Given the description of an element on the screen output the (x, y) to click on. 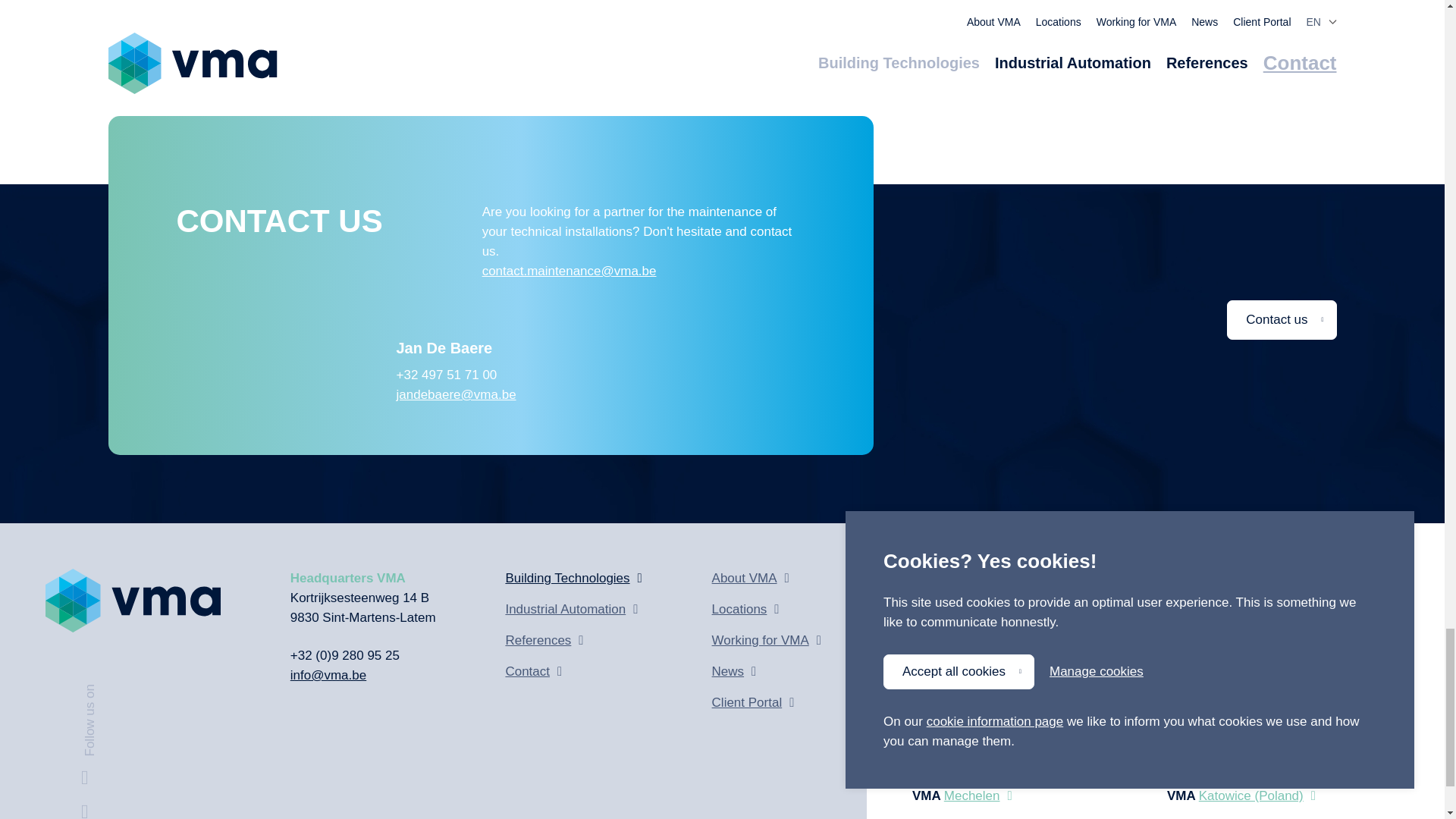
Locations (766, 609)
Industrial Automation (573, 609)
Working for VMA (766, 640)
Contact us (1281, 319)
Contact (573, 671)
Building Technologies (573, 578)
News (766, 671)
About VMA (766, 578)
References (573, 640)
Client Portal (766, 702)
